Given the description of an element on the screen output the (x, y) to click on. 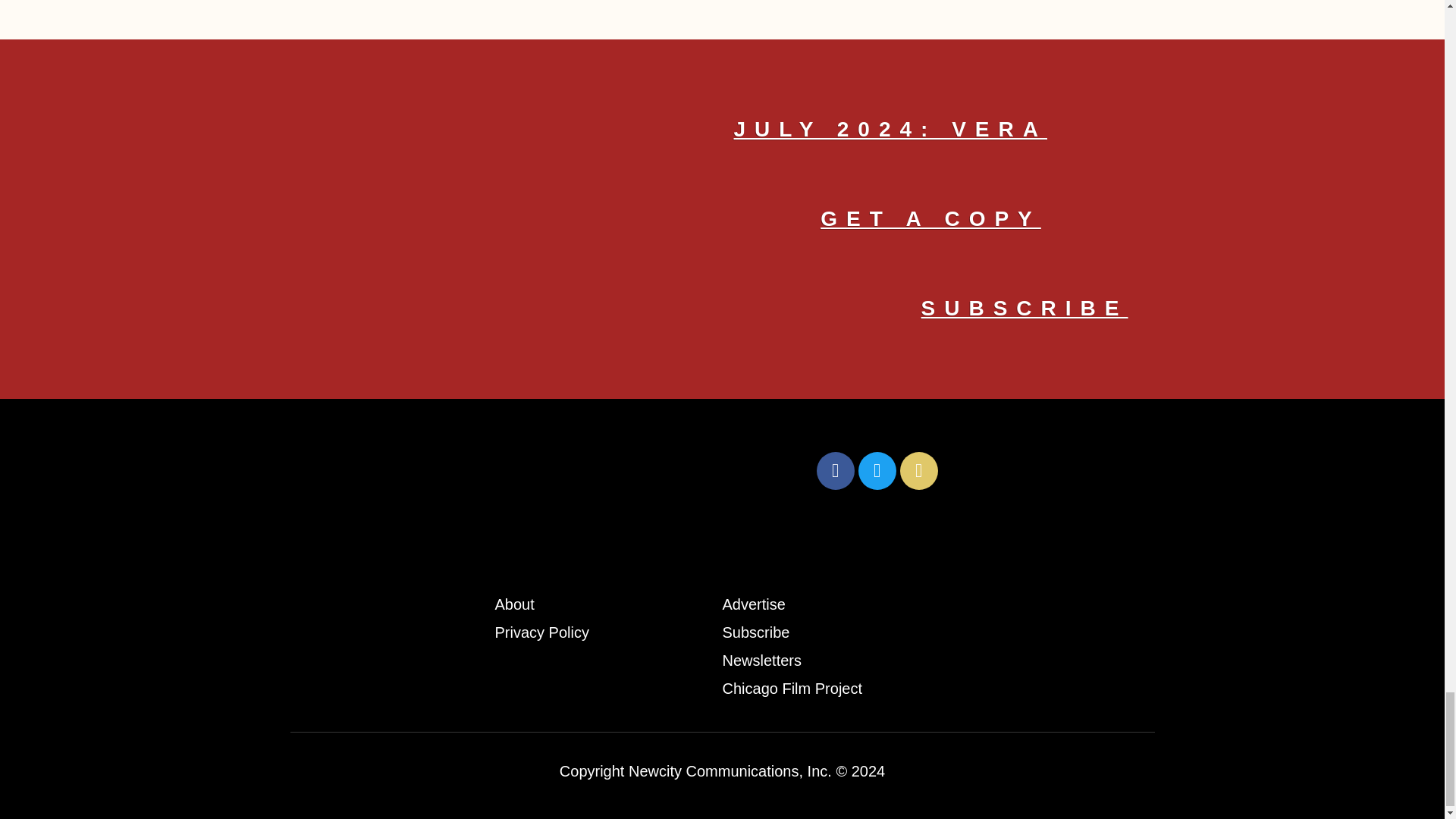
NewcityLogo.png (548, 470)
